Given the description of an element on the screen output the (x, y) to click on. 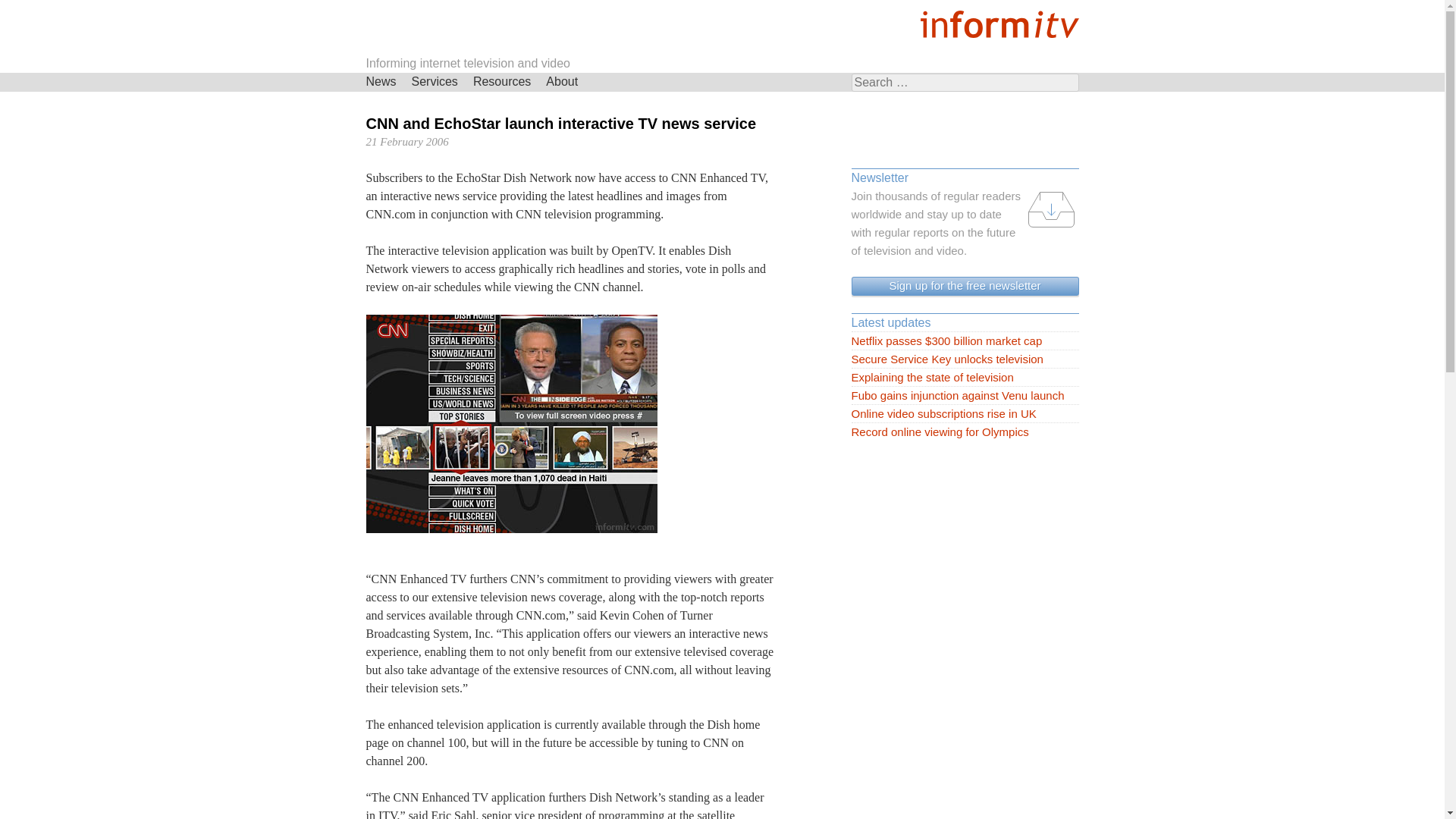
Online video subscriptions rise in UK (964, 413)
News (380, 81)
Resources (501, 81)
Get the newsletter (964, 285)
Secure Service Key unlocks television (964, 359)
Record online viewing for Olympics (964, 432)
About (561, 81)
Services (434, 81)
Fubo gains injunction against Venu launch (964, 395)
